Given the description of an element on the screen output the (x, y) to click on. 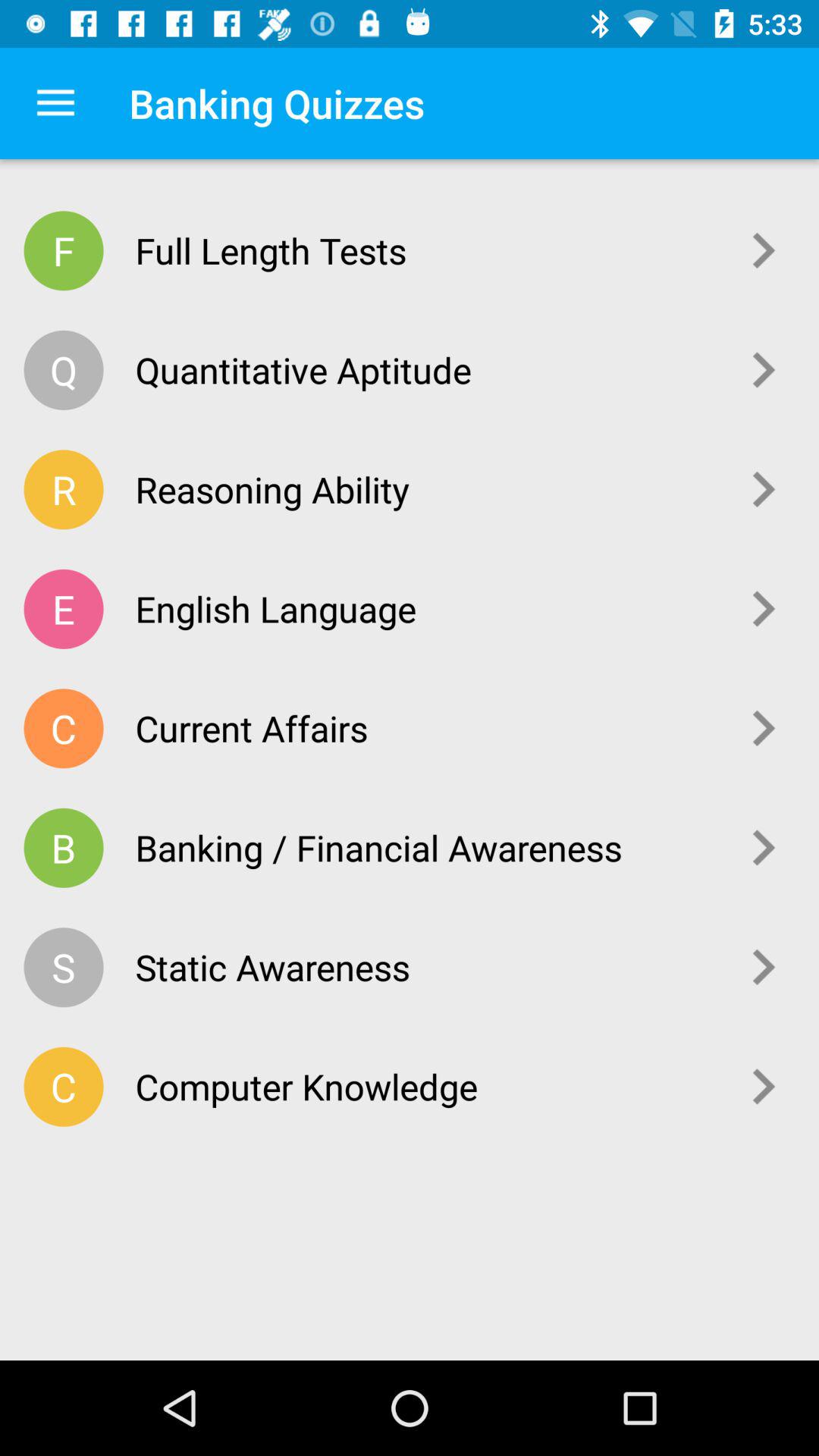
click item below banking / financial awareness item (425, 966)
